Given the description of an element on the screen output the (x, y) to click on. 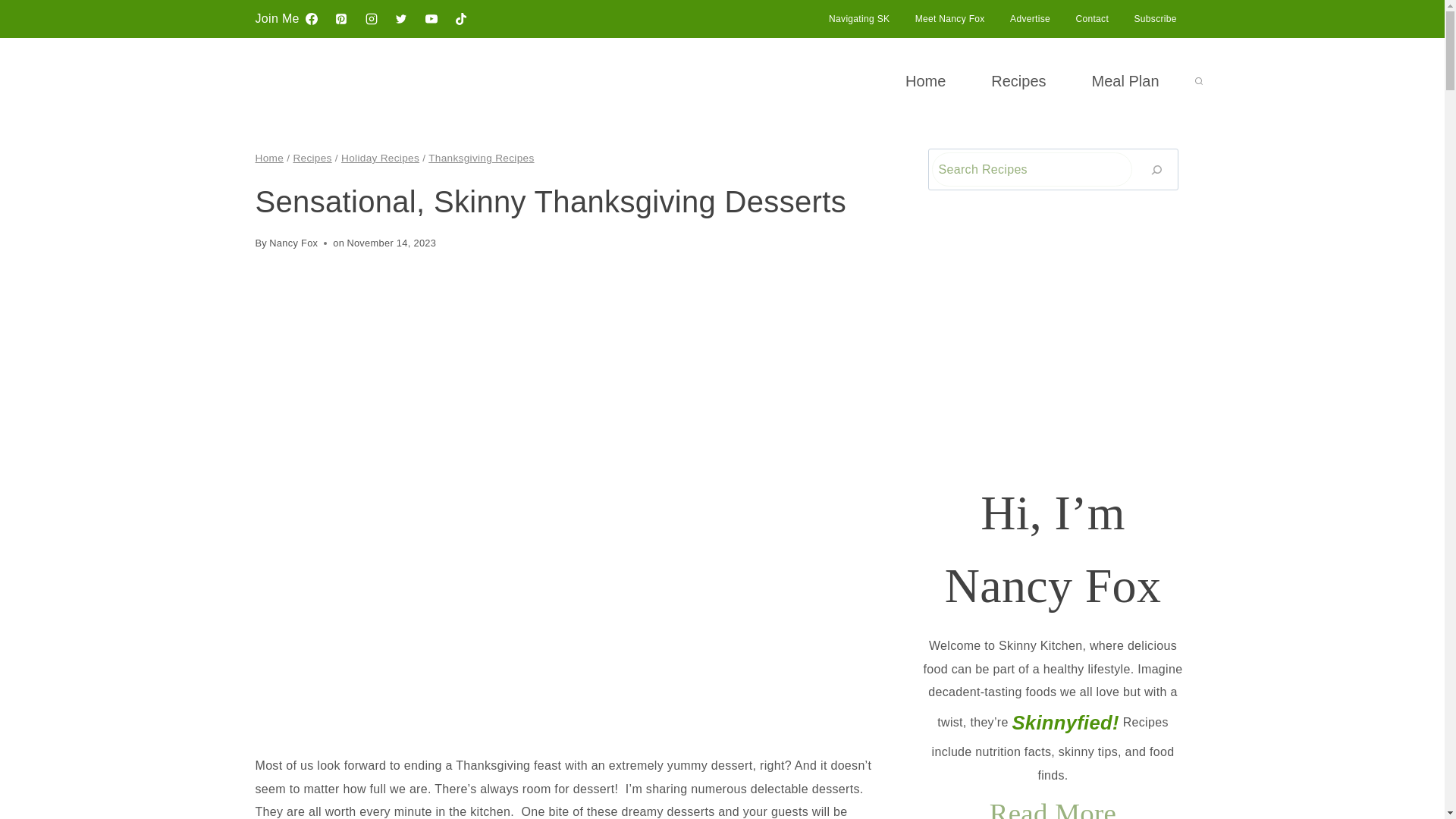
Home (268, 157)
Meal Plan (1125, 80)
Recipes (1018, 80)
Recipes (311, 157)
Home (268, 157)
Contact (1091, 18)
Holiday Recipes (379, 157)
Thanksgiving Recipes (481, 157)
Recipes (311, 157)
Subscribe (1155, 18)
Meet Nancy Fox (949, 18)
Thanksgiving Recipes (481, 157)
Holiday Recipes (379, 157)
Home (925, 80)
Nancy Fox (293, 242)
